Given the description of an element on the screen output the (x, y) to click on. 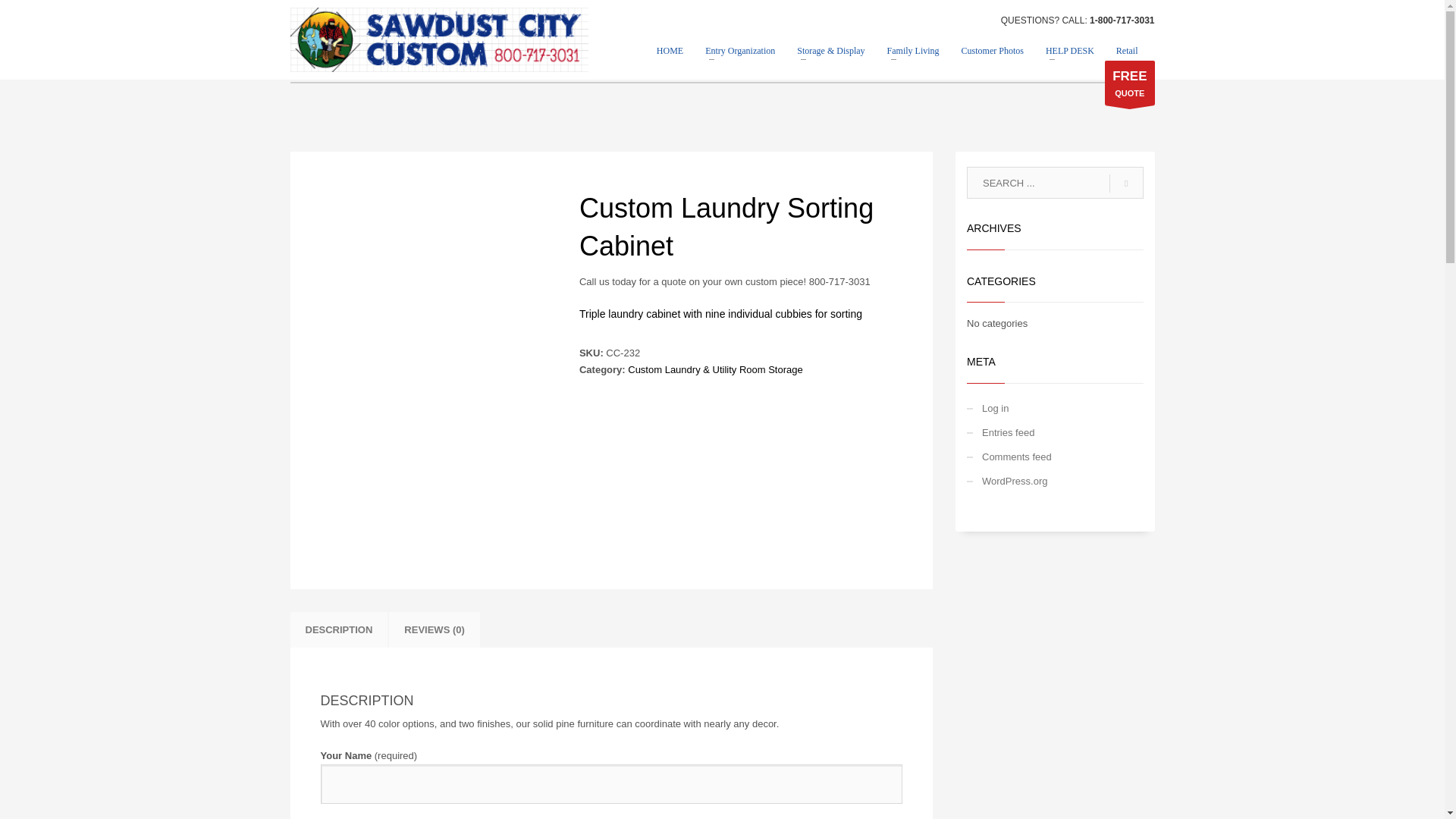
1-800-717-3031 (1121, 20)
Entry Organization (739, 50)
HOME (670, 50)
DESCRIPTION (338, 629)
Family Living (913, 50)
Made in the USA (438, 39)
HELP DESK (1069, 50)
Retail (1126, 50)
Customer Photos (992, 50)
